Given the description of an element on the screen output the (x, y) to click on. 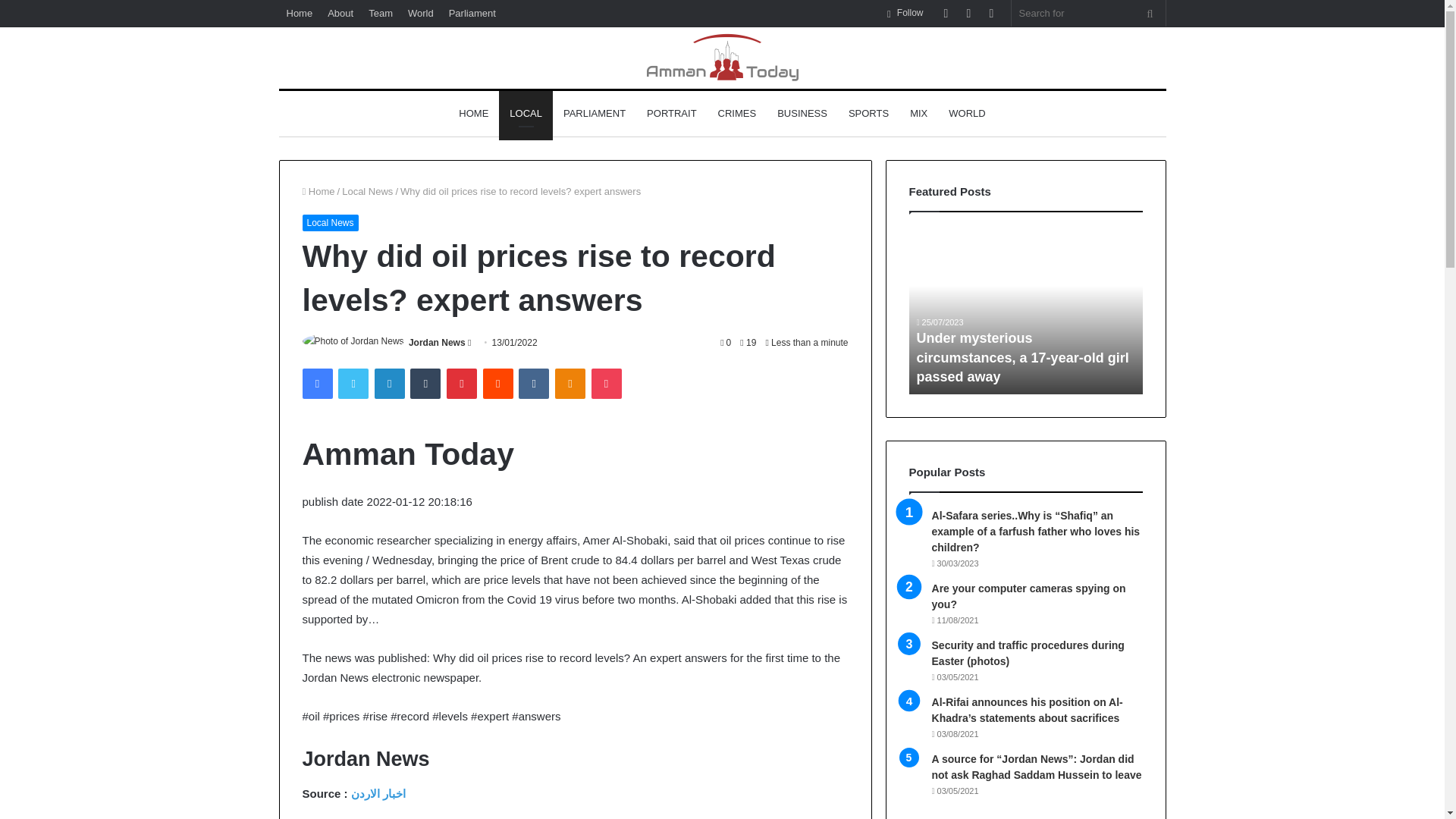
Twitter (352, 383)
VKontakte (533, 383)
Jordan News (437, 342)
Odnoklassniki (569, 383)
Search for (1150, 13)
Follow (905, 13)
World (420, 13)
Tumblr (425, 383)
HOME (473, 113)
BUSINESS (802, 113)
Random Article (968, 13)
Twitter (352, 383)
Reddit (498, 383)
LOCAL (526, 113)
